Given the description of an element on the screen output the (x, y) to click on. 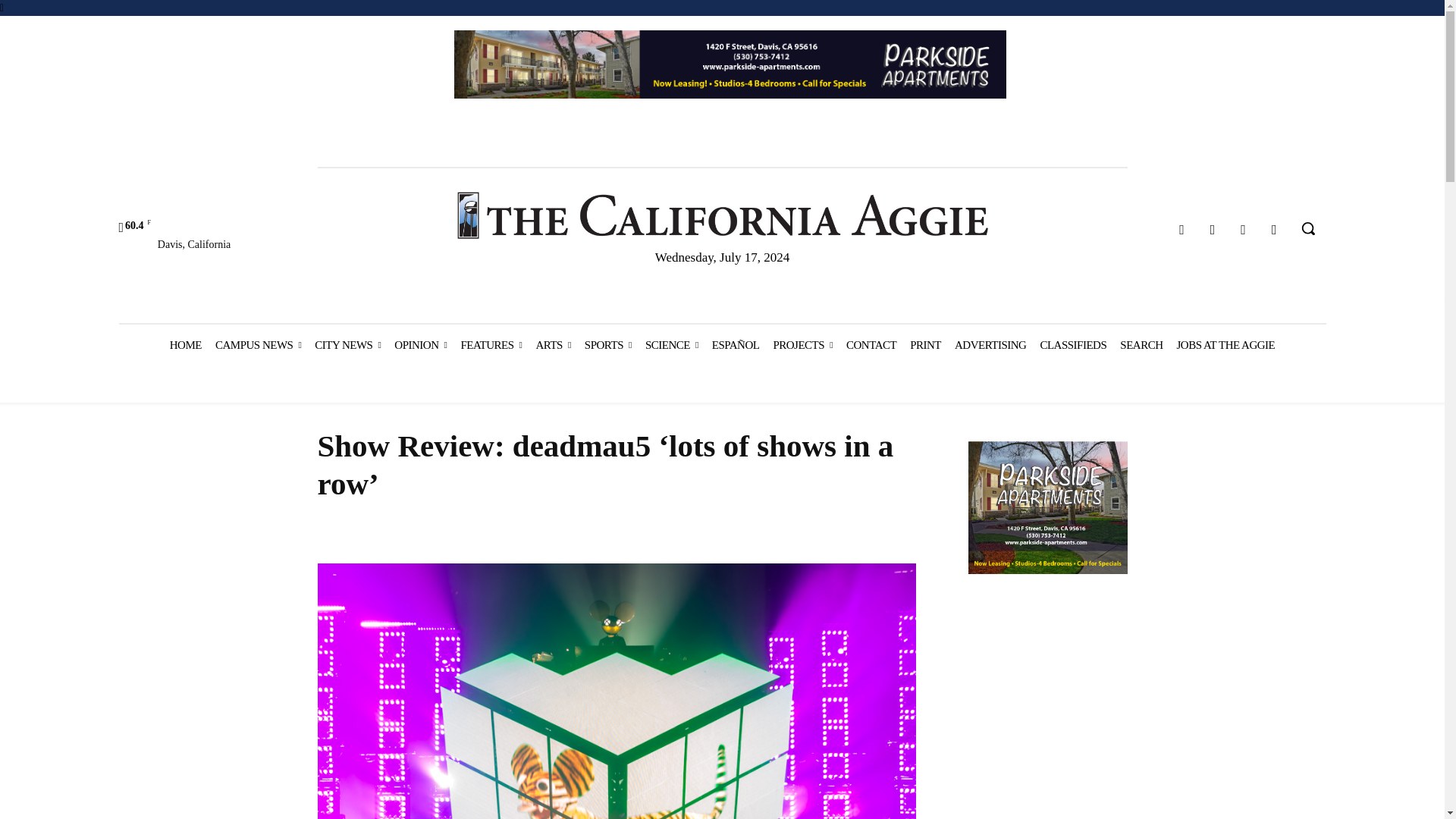
Youtube (1273, 229)
Facebook (1181, 229)
CAMPUS NEWS (257, 345)
HOME (185, 345)
Instagram (1212, 229)
Twitter (1243, 229)
